Given the description of an element on the screen output the (x, y) to click on. 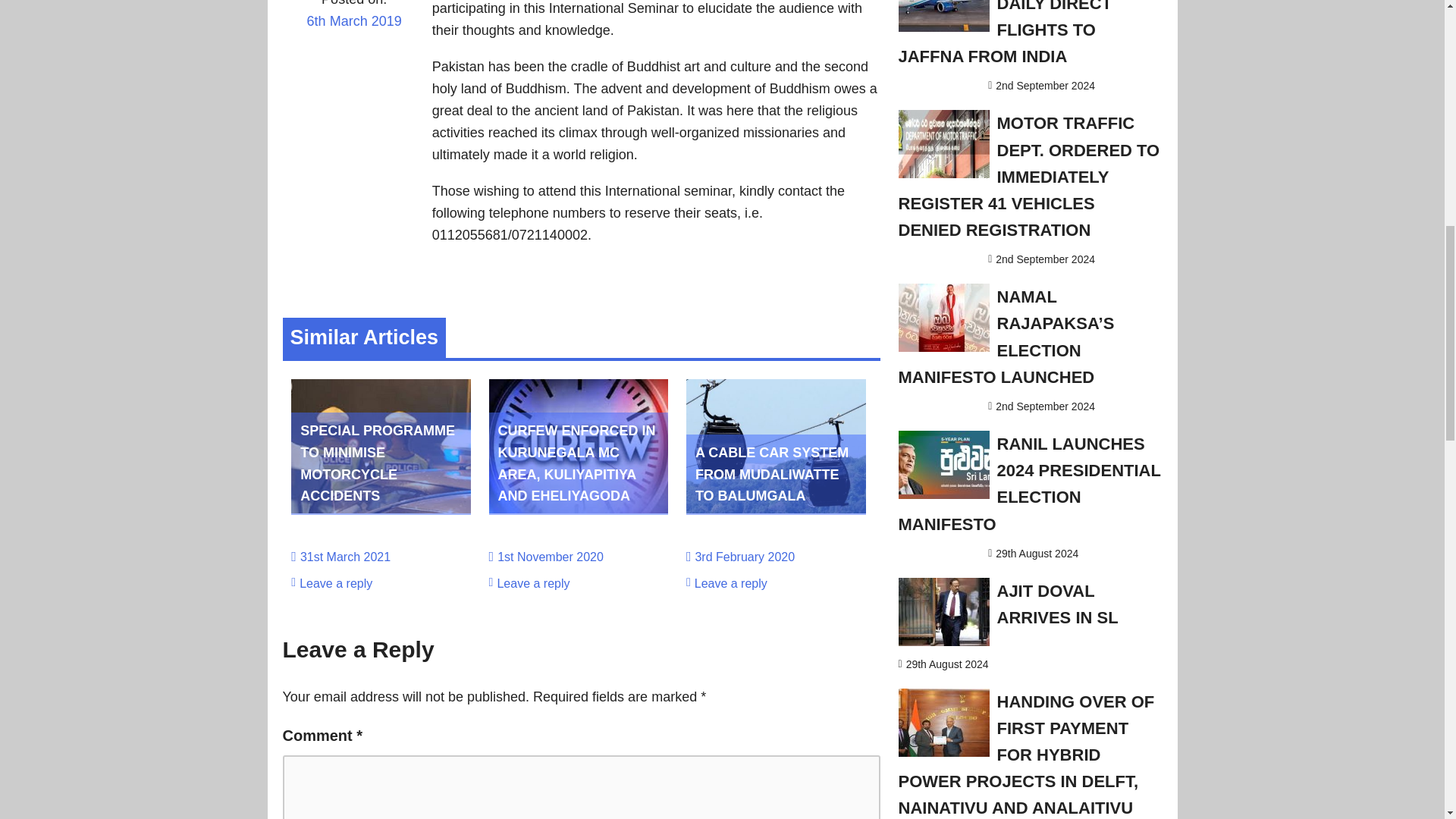
Special programme to minimise motorcycle accidents (380, 508)
6th March 2019 (353, 30)
A cable car system from Mudaliwatte to Balumgala (775, 508)
A cable car system from Mudaliwatte to Balumgala (771, 474)
Special programme to minimise motorcycle accidents (376, 463)
IndiGo starts daily direct flights to Jaffna from India (1011, 33)
SPECIAL PROGRAMME TO MINIMISE MOTORCYCLE ACCIDENTS (376, 463)
